Given the description of an element on the screen output the (x, y) to click on. 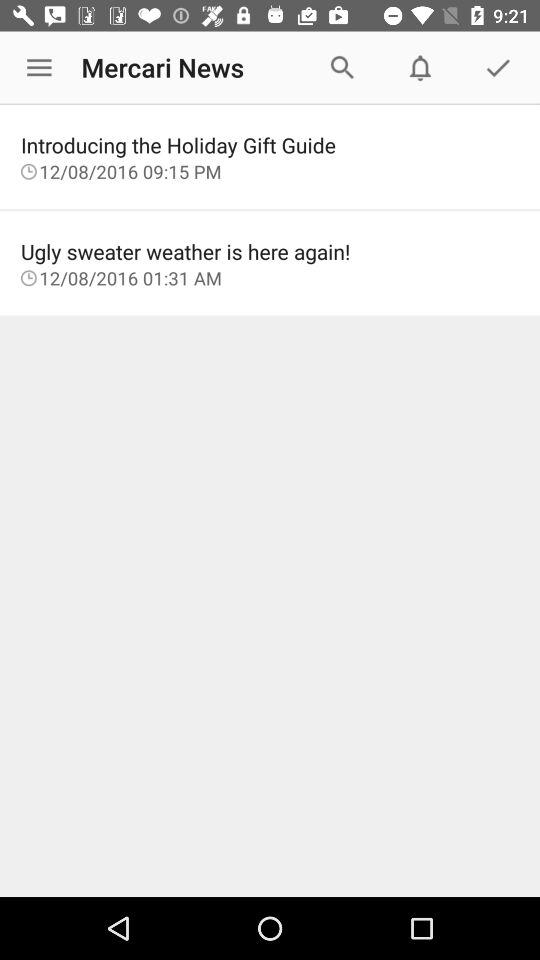
tap the icon above 12 08 2016 item (270, 144)
